Given the description of an element on the screen output the (x, y) to click on. 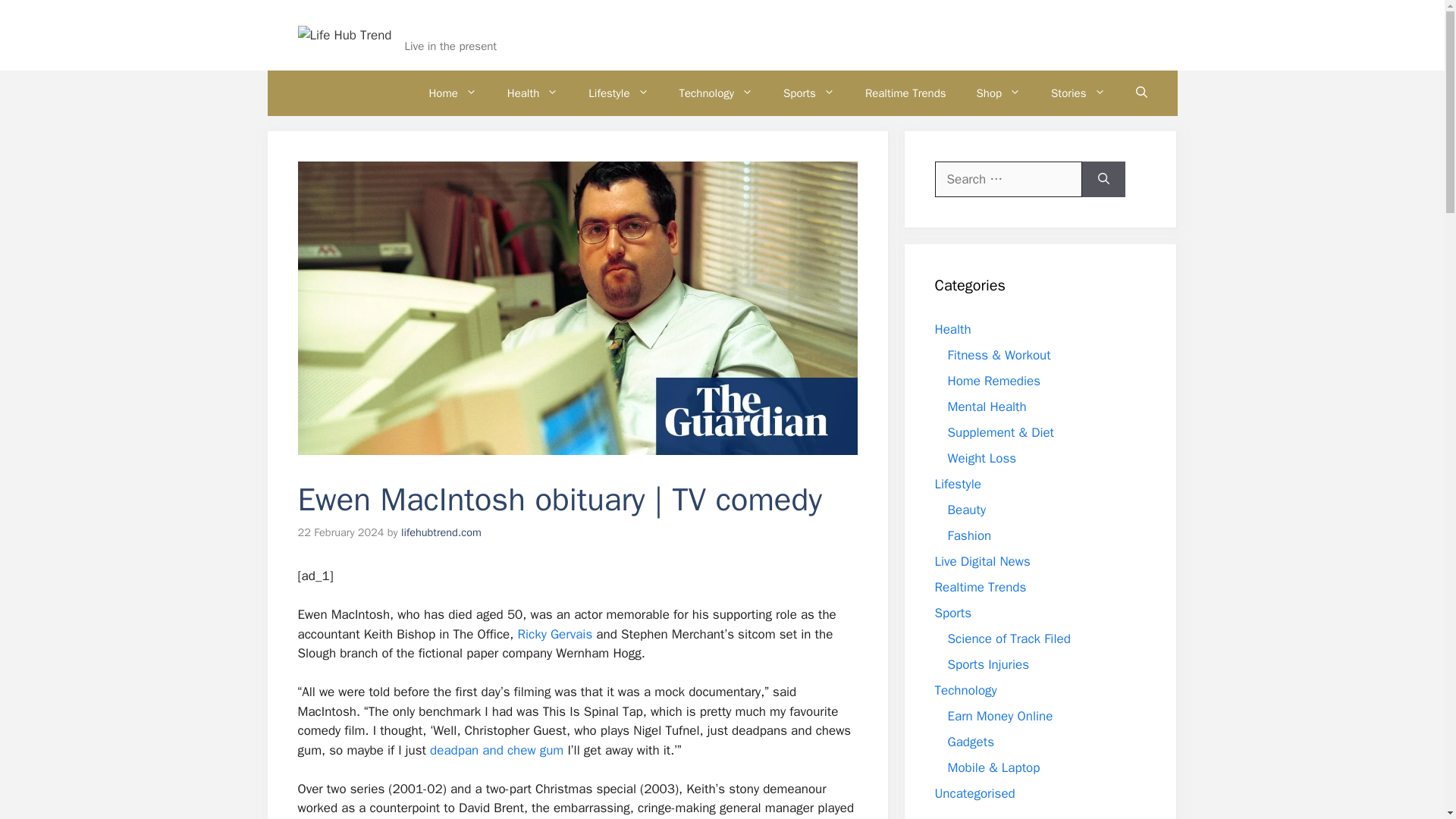
Lifestyle (618, 92)
Technology (715, 92)
Shop (998, 92)
Search for: (1007, 178)
Health (532, 92)
Sports (809, 92)
View all posts by lifehubtrend.com (441, 531)
Realtime Trends (905, 92)
Life Hub Trend (464, 25)
Stories (1077, 92)
